Given the description of an element on the screen output the (x, y) to click on. 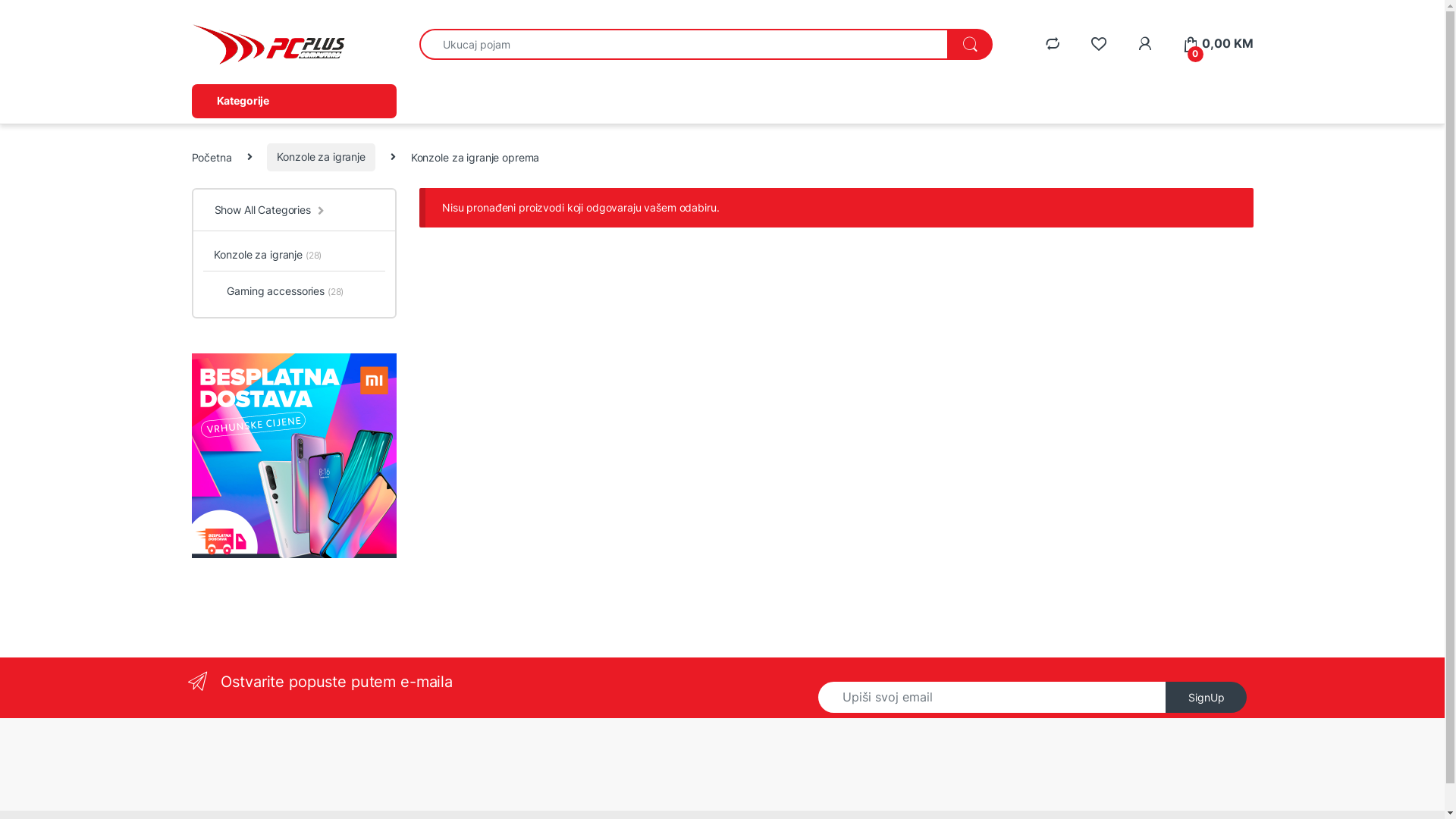
Gaming accessories (28) Element type: text (273, 289)
SignUp Element type: text (1206, 696)
Kategorije Element type: text (293, 101)
Konzole za igranje (28) Element type: text (262, 255)
Konzole za igranje Element type: text (320, 157)
0
0,00 KM Element type: text (1217, 43)
